Given the description of an element on the screen output the (x, y) to click on. 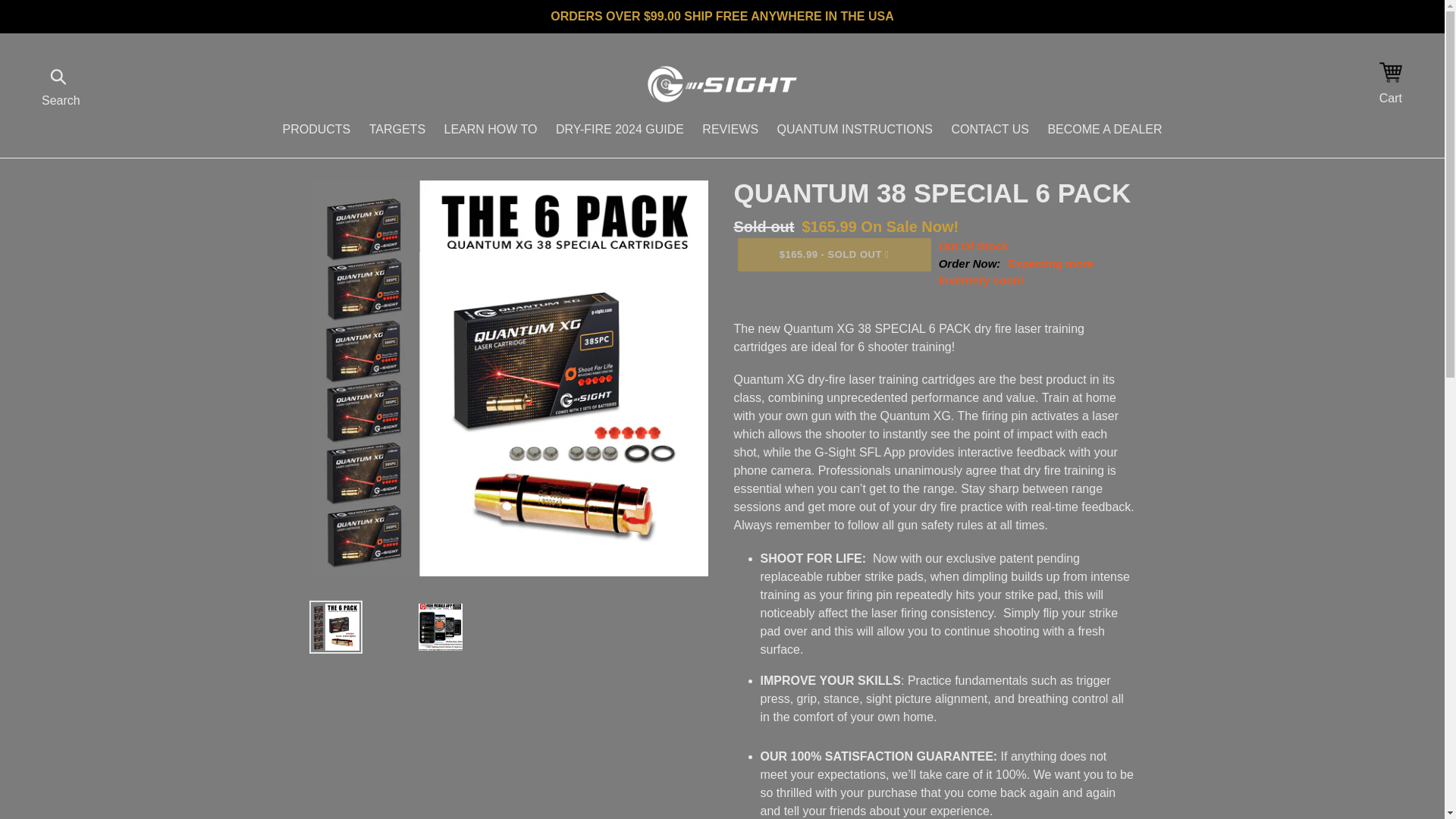
DRY-FIRE 2024 GUIDE (619, 130)
BECOME A DEALER (1104, 130)
Submit (59, 74)
TARGETS (396, 130)
REVIEWS (729, 130)
QUANTUM INSTRUCTIONS (855, 130)
CONTACT US (989, 130)
PRODUCTS (316, 130)
LEARN HOW TO (490, 130)
